Given the description of an element on the screen output the (x, y) to click on. 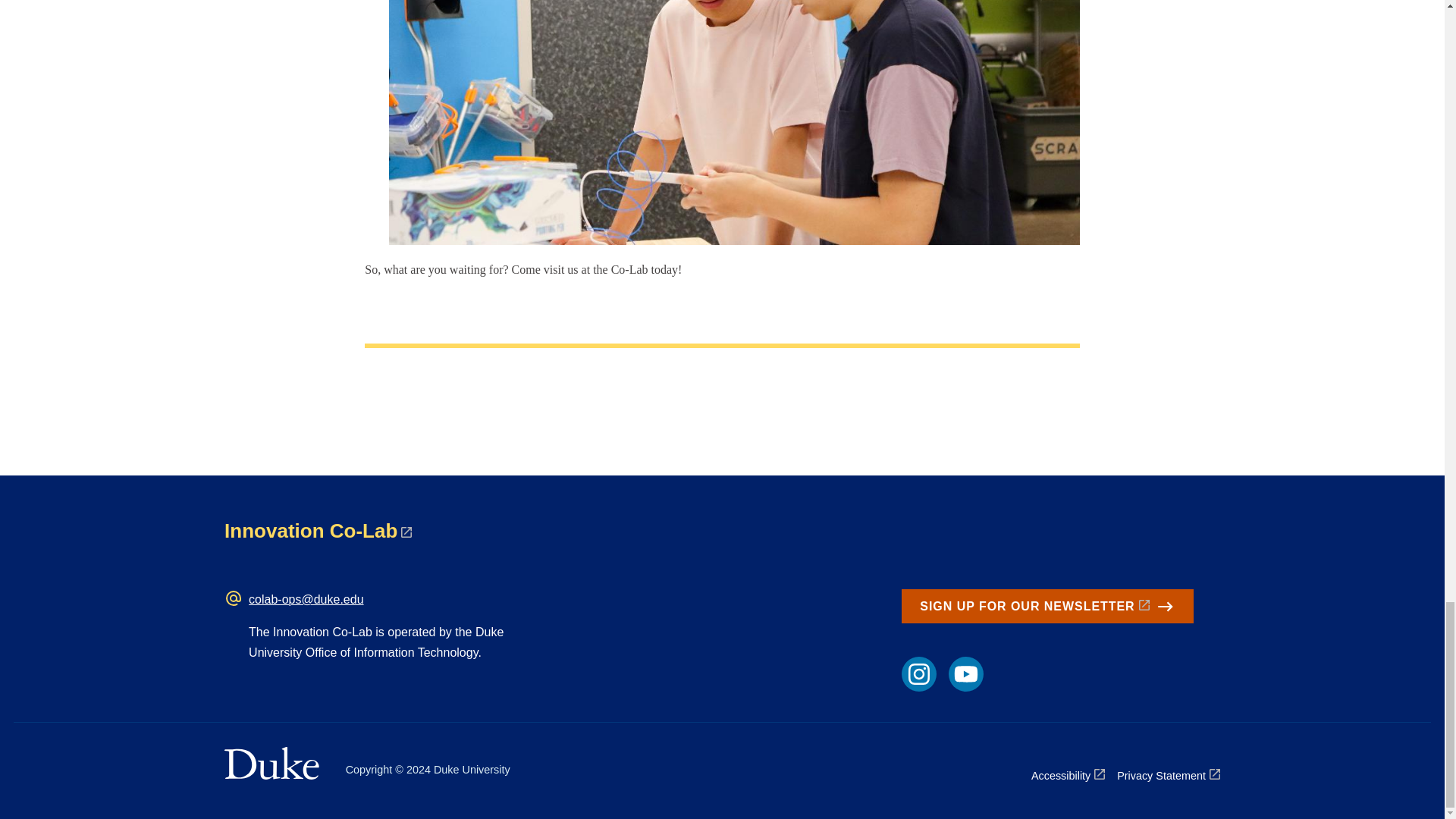
YouTube link (966, 673)
Innovation Co-Lab (318, 530)
SIGN UP FOR OUR NEWSLETTER (1046, 606)
Privacy Statement (1168, 775)
Instagram link (918, 673)
Accessibility (1067, 775)
